Given the description of an element on the screen output the (x, y) to click on. 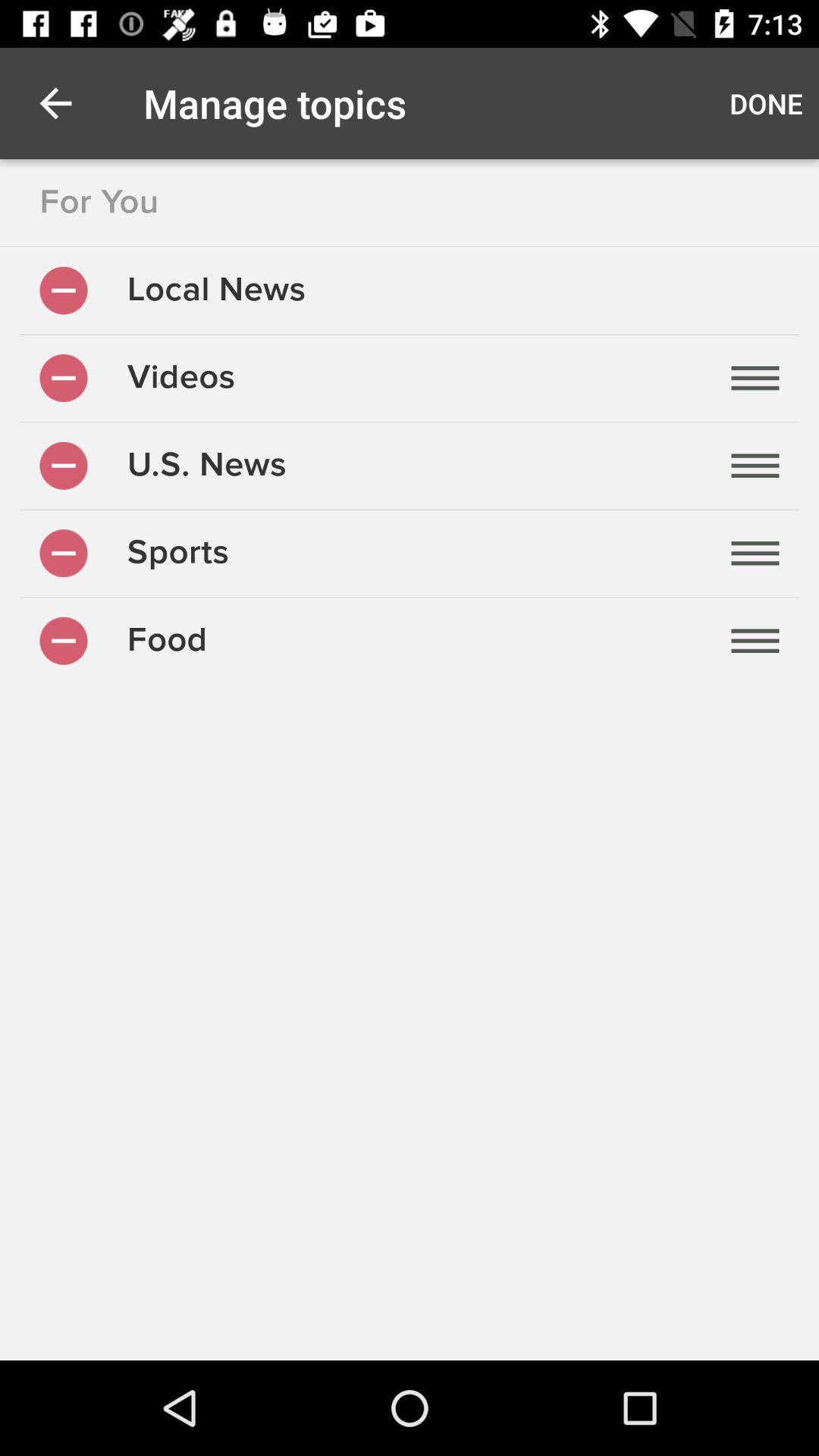
minimize article (63, 290)
